Given the description of an element on the screen output the (x, y) to click on. 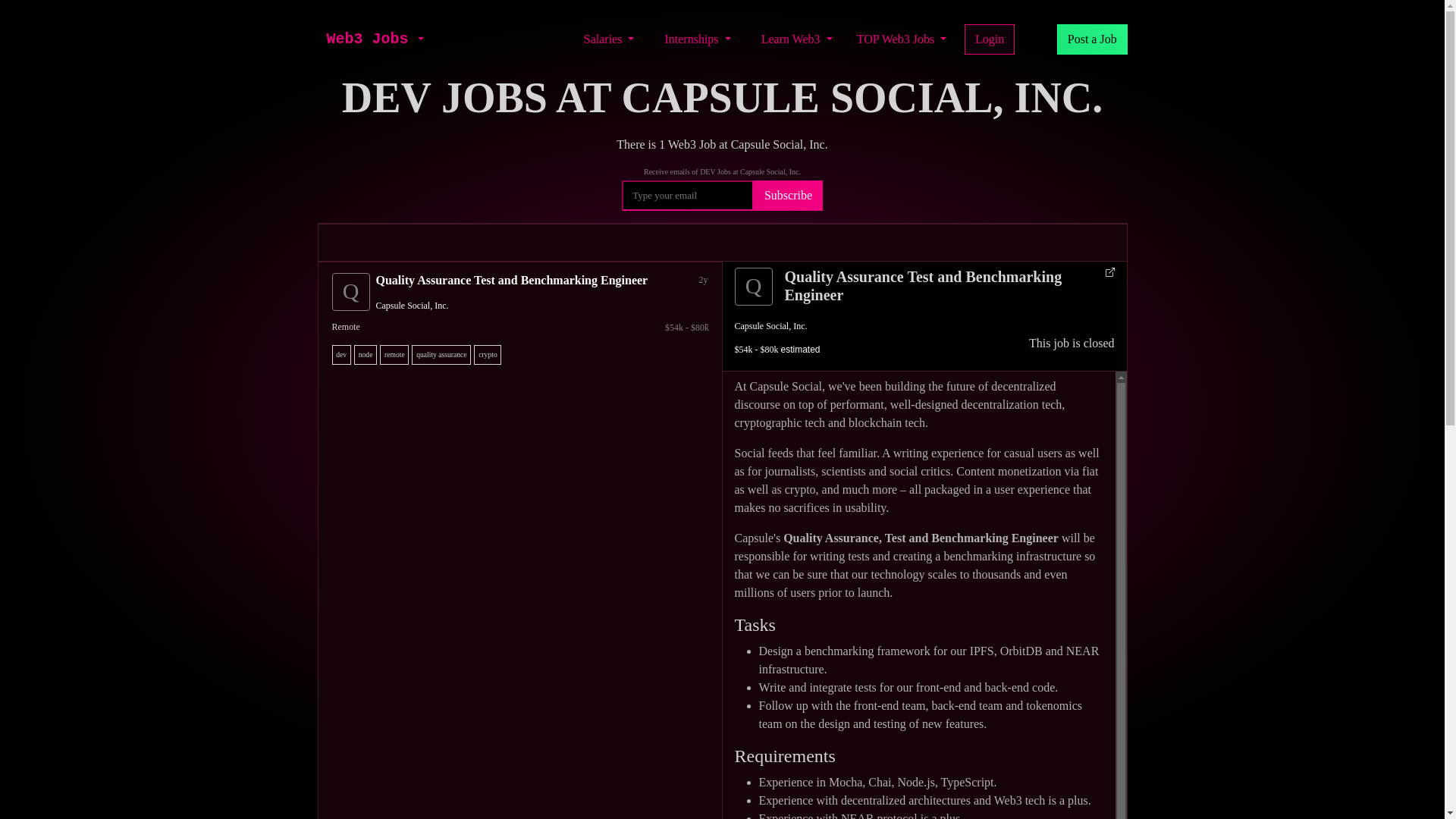
Internships (697, 39)
Subscribe (788, 195)
Learn Web3 (796, 39)
Salaries (609, 39)
Web3 Jobs (366, 39)
Estimated salary based on similar jobs (522, 327)
Estimated compensation based on similar jobs (776, 349)
